Given the description of an element on the screen output the (x, y) to click on. 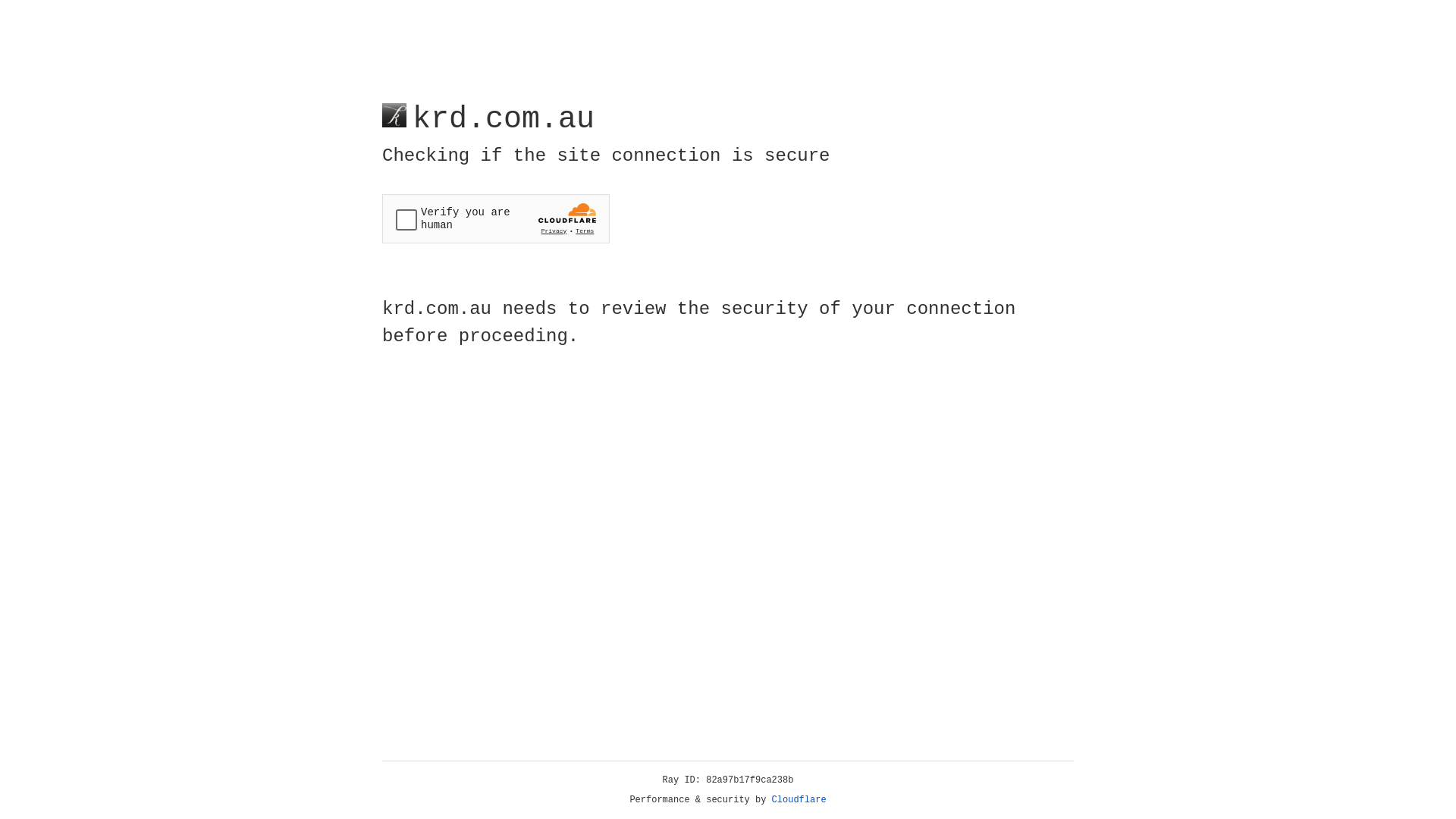
Cloudflare Element type: text (798, 799)
Widget containing a Cloudflare security challenge Element type: hover (495, 218)
